Given the description of an element on the screen output the (x, y) to click on. 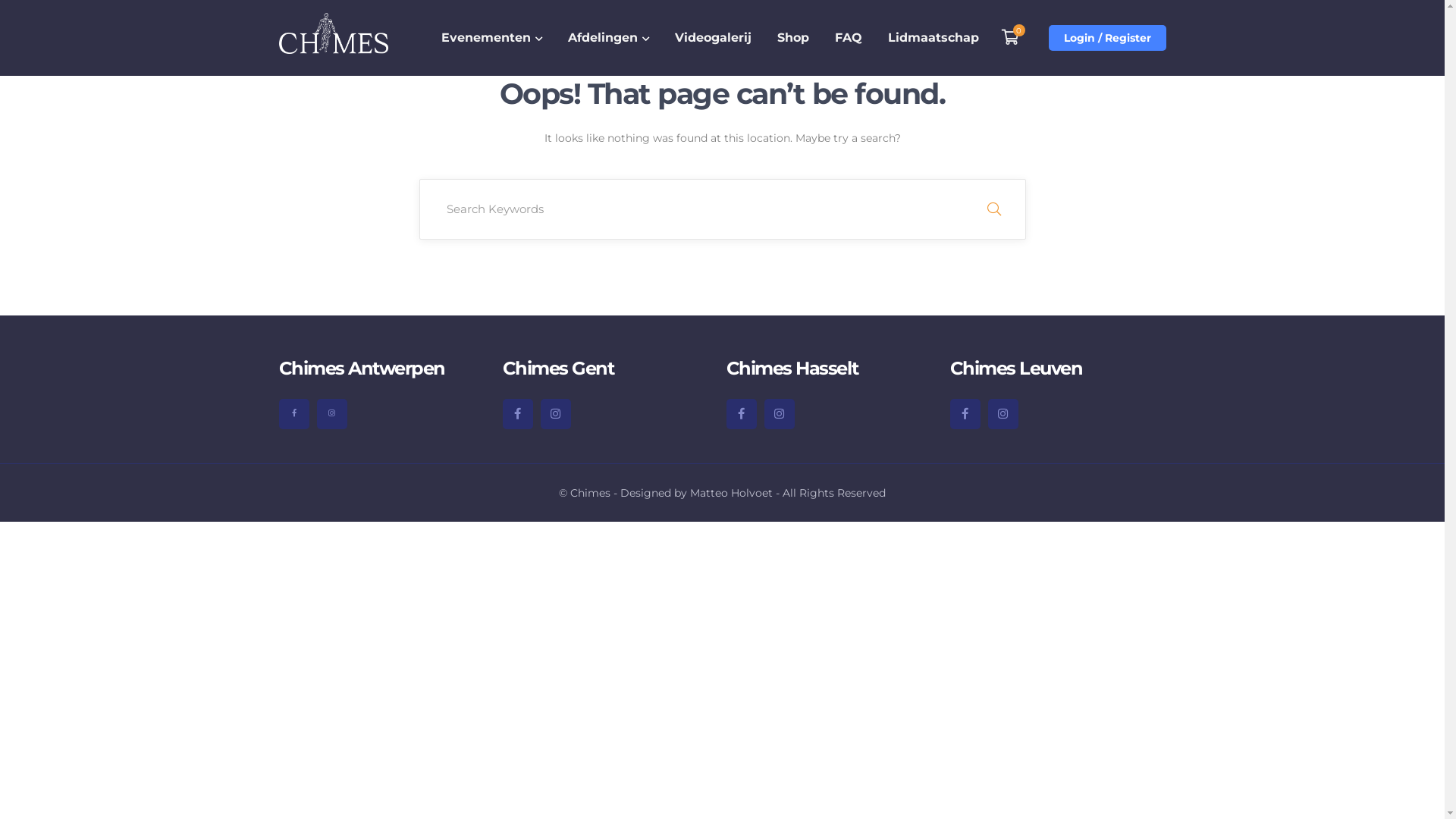
instagram Element type: hover (554, 413)
facebook Element type: hover (294, 413)
Search for: Element type: hover (721, 209)
instagram Element type: hover (779, 413)
facebook Element type: hover (741, 413)
SEARCH Element type: text (993, 209)
Chimes Element type: hover (333, 25)
Evenementen Element type: text (491, 37)
Shop Element type: text (792, 37)
Videogalerij Element type: text (712, 37)
0 Element type: text (1010, 37)
instagram Element type: hover (1002, 413)
Lidmaatschap Element type: text (932, 37)
instagram Element type: hover (331, 413)
facebook Element type: hover (517, 413)
Login / Register Element type: text (1106, 37)
Afdelingen Element type: text (607, 37)
facebook Element type: hover (964, 413)
FAQ Element type: text (847, 37)
